Given the description of an element on the screen output the (x, y) to click on. 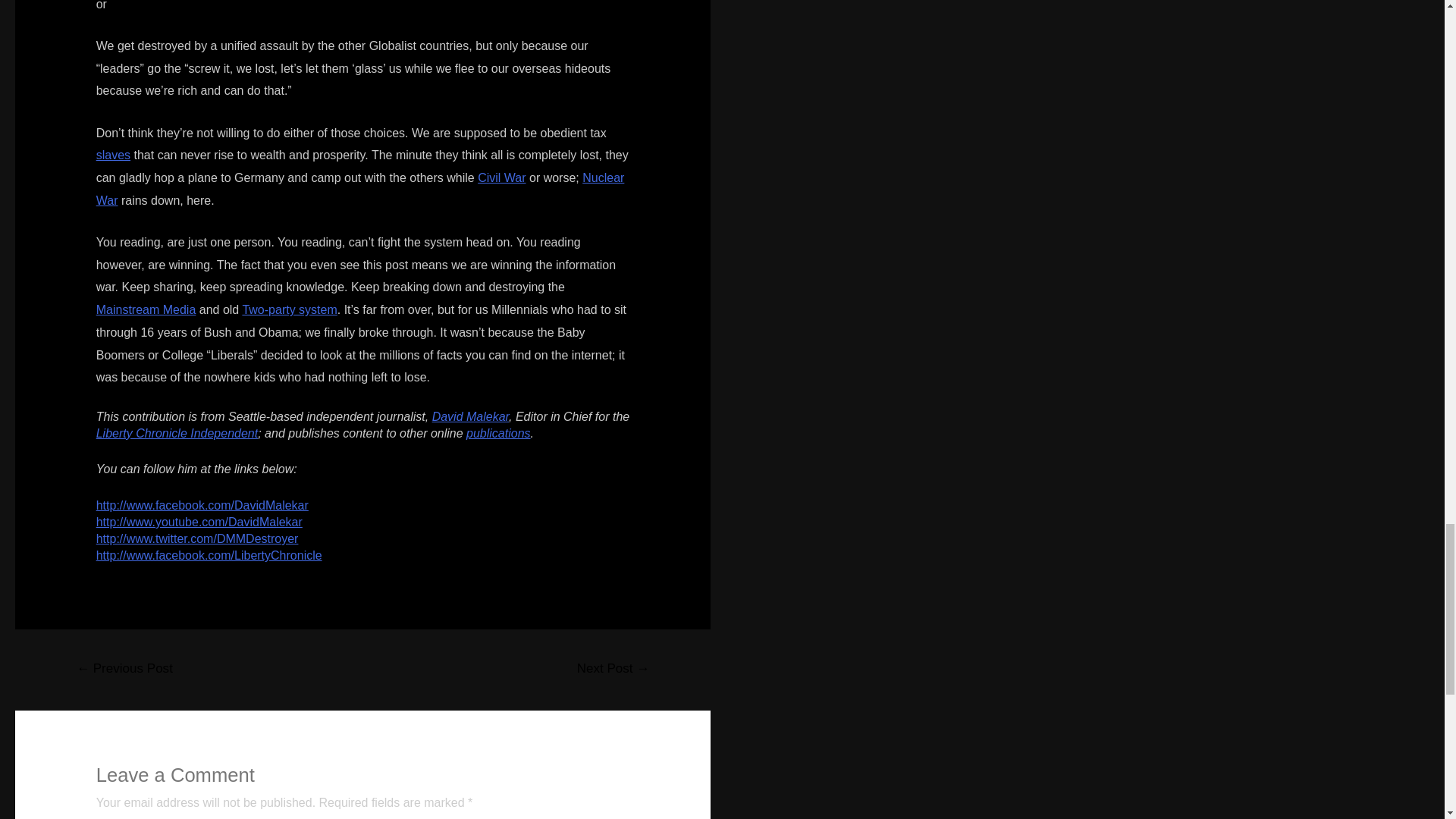
Two-party system (288, 309)
slaves (113, 154)
Mainstream Media (146, 309)
Civil War (501, 177)
Liberty Chronicle Independent (176, 432)
Nuclear War (360, 189)
David Malekar (470, 415)
